Given the description of an element on the screen output the (x, y) to click on. 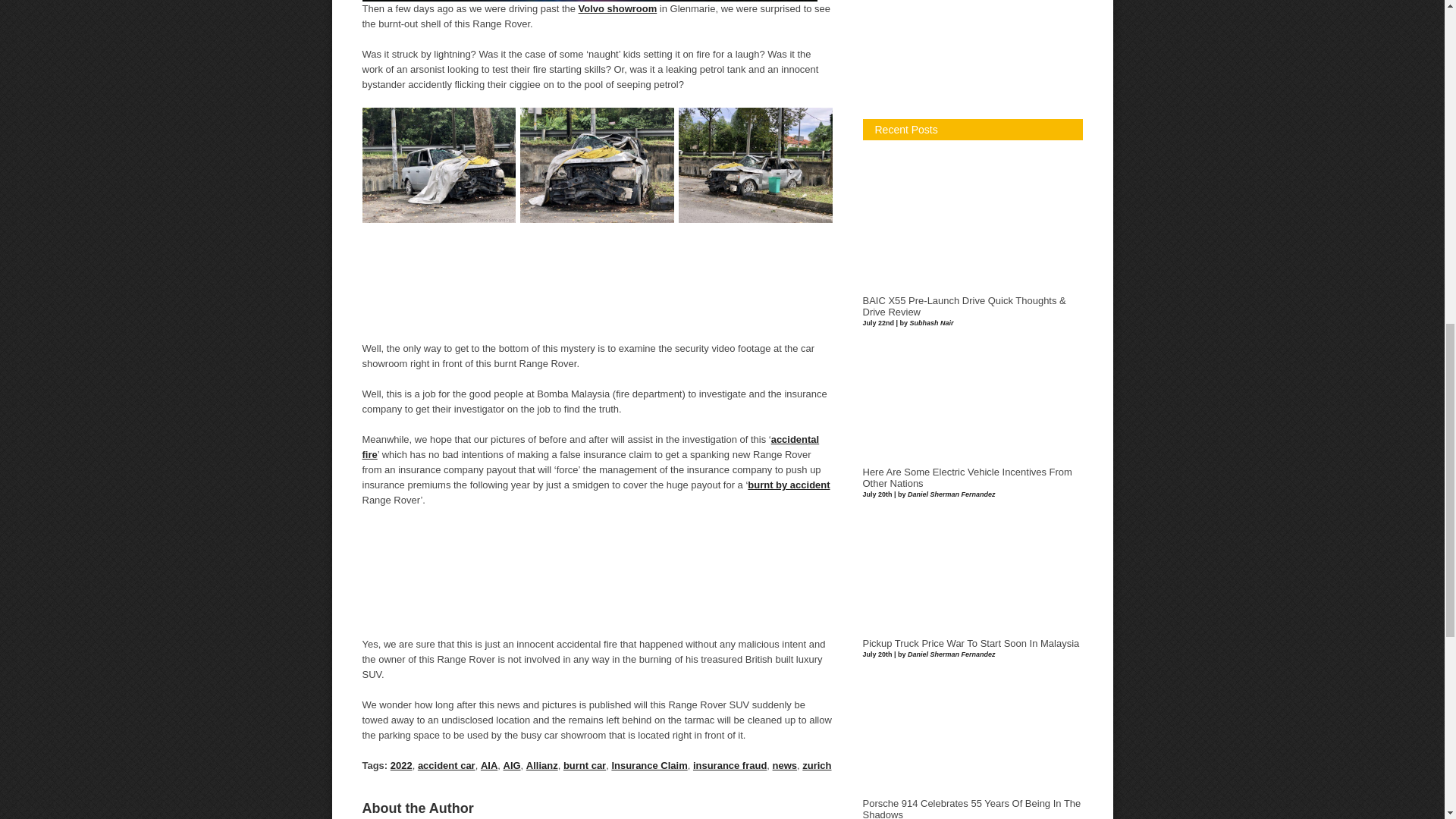
Pickup Truck Price War To Start Soon In Malaysia (971, 643)
Porsche 914 Celebrates 55 Years Of Being In The Shadows (972, 808)
zurich (816, 765)
AIG (512, 765)
insurance fraud (730, 765)
accidental fire (590, 447)
burnt by accident (788, 484)
news (784, 765)
Here Are Some Electric Vehicle Incentives From Other Nations (967, 477)
Allianz (541, 765)
Volvo showroom (618, 8)
2022 (401, 765)
AIA (488, 765)
burnt car (584, 765)
accident car (446, 765)
